Given the description of an element on the screen output the (x, y) to click on. 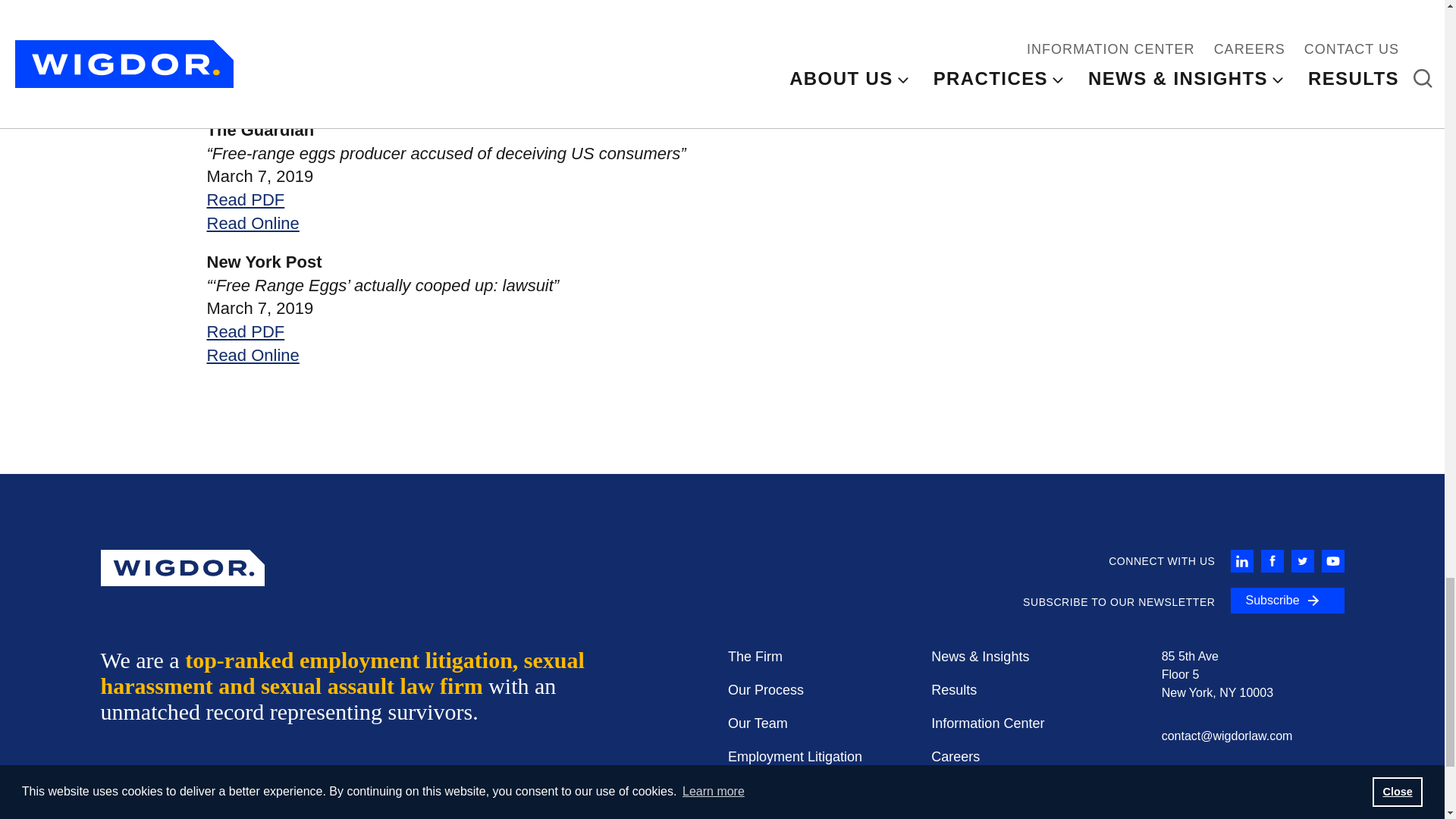
Read Online (252, 90)
Read PDF (244, 67)
